Given the description of an element on the screen output the (x, y) to click on. 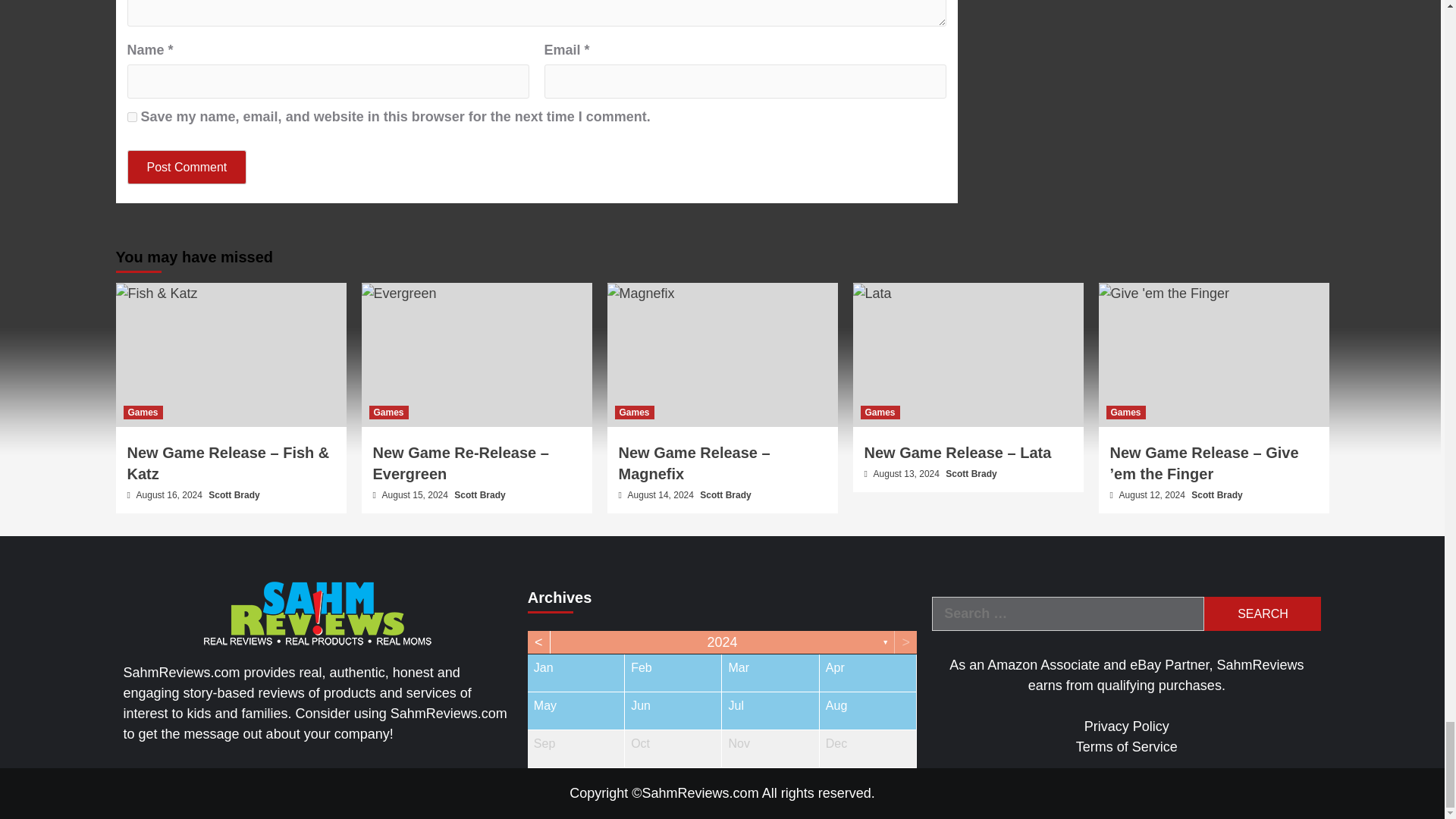
yes (132, 117)
February, 2024 (672, 672)
Search (1262, 613)
Post Comment (187, 166)
Search (1262, 613)
March, 2024 (770, 672)
January, 2024 (575, 672)
